Given the description of an element on the screen output the (x, y) to click on. 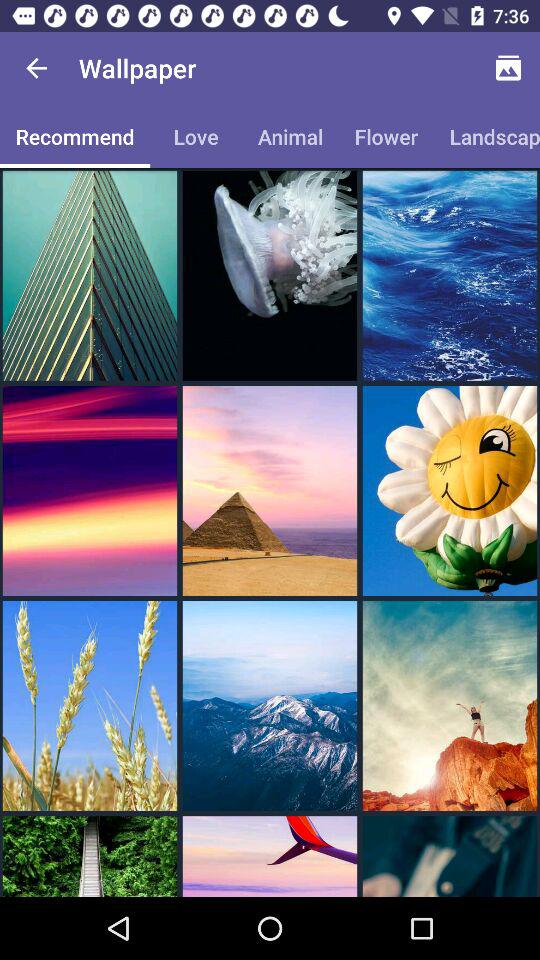
turn off the icon to the right of the wallpaper app (508, 67)
